Given the description of an element on the screen output the (x, y) to click on. 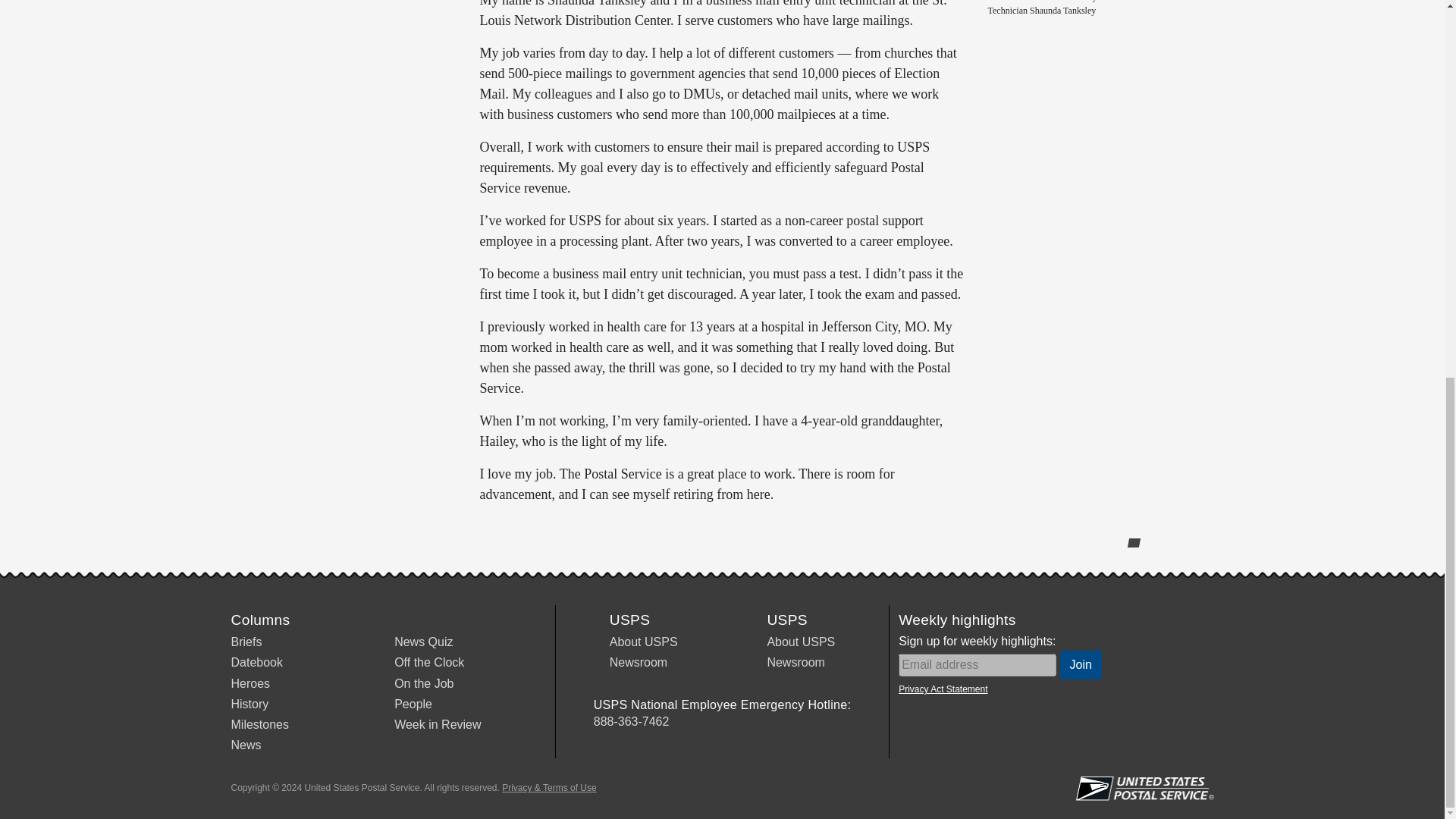
Privacy Act Statement (942, 688)
Off the Clock (429, 662)
Briefs (246, 641)
Join (1080, 664)
News Quiz (423, 641)
Week in Review (437, 724)
History (248, 703)
Heroes (249, 683)
News (245, 744)
Newsroom (638, 662)
People (413, 703)
On the Job (423, 683)
Join (1080, 664)
Newsroom (795, 662)
About USPS (800, 641)
